Given the description of an element on the screen output the (x, y) to click on. 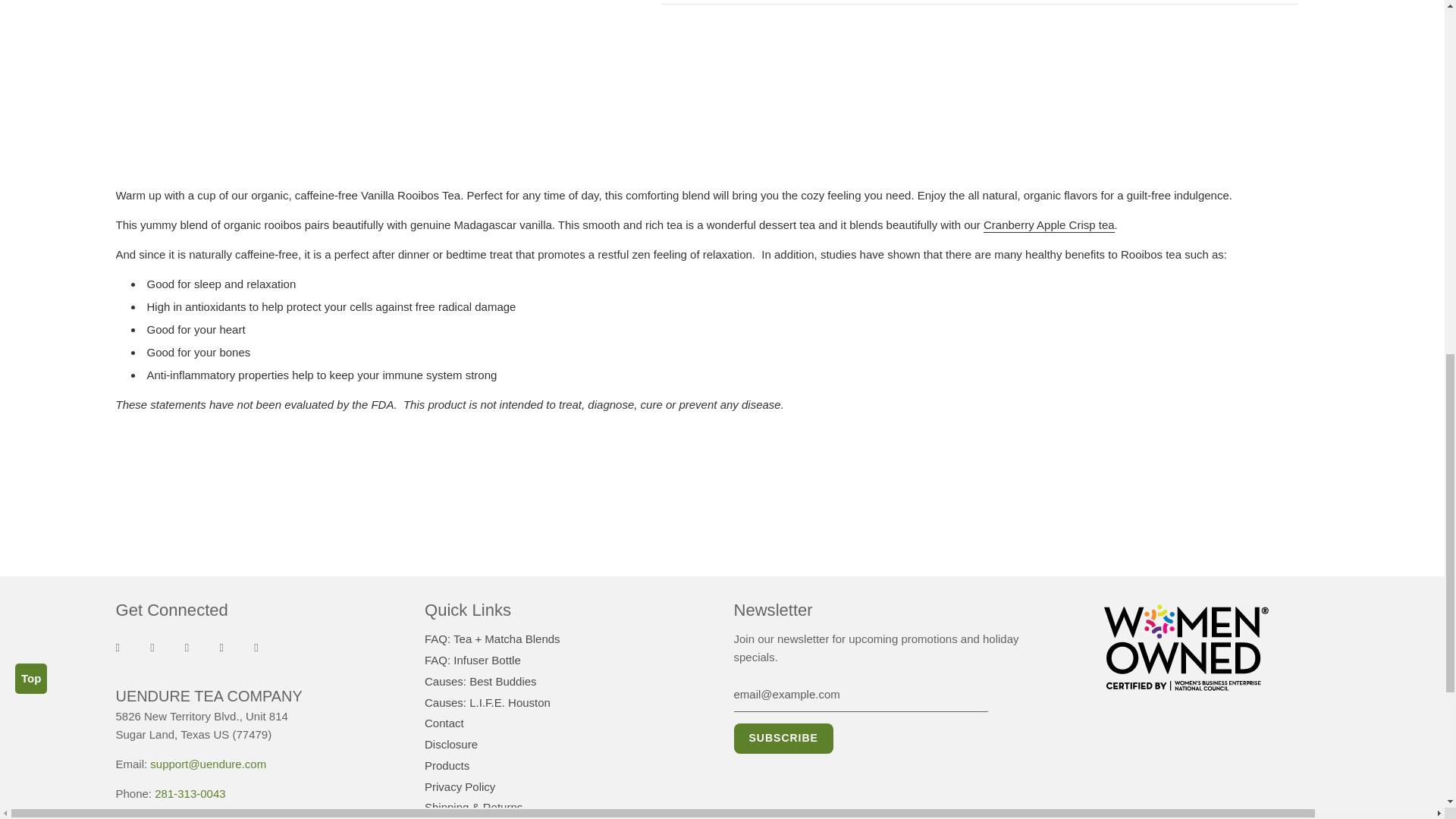
Cranberry Apple Crisp tea (1049, 225)
Subscribe (782, 738)
